Given the description of an element on the screen output the (x, y) to click on. 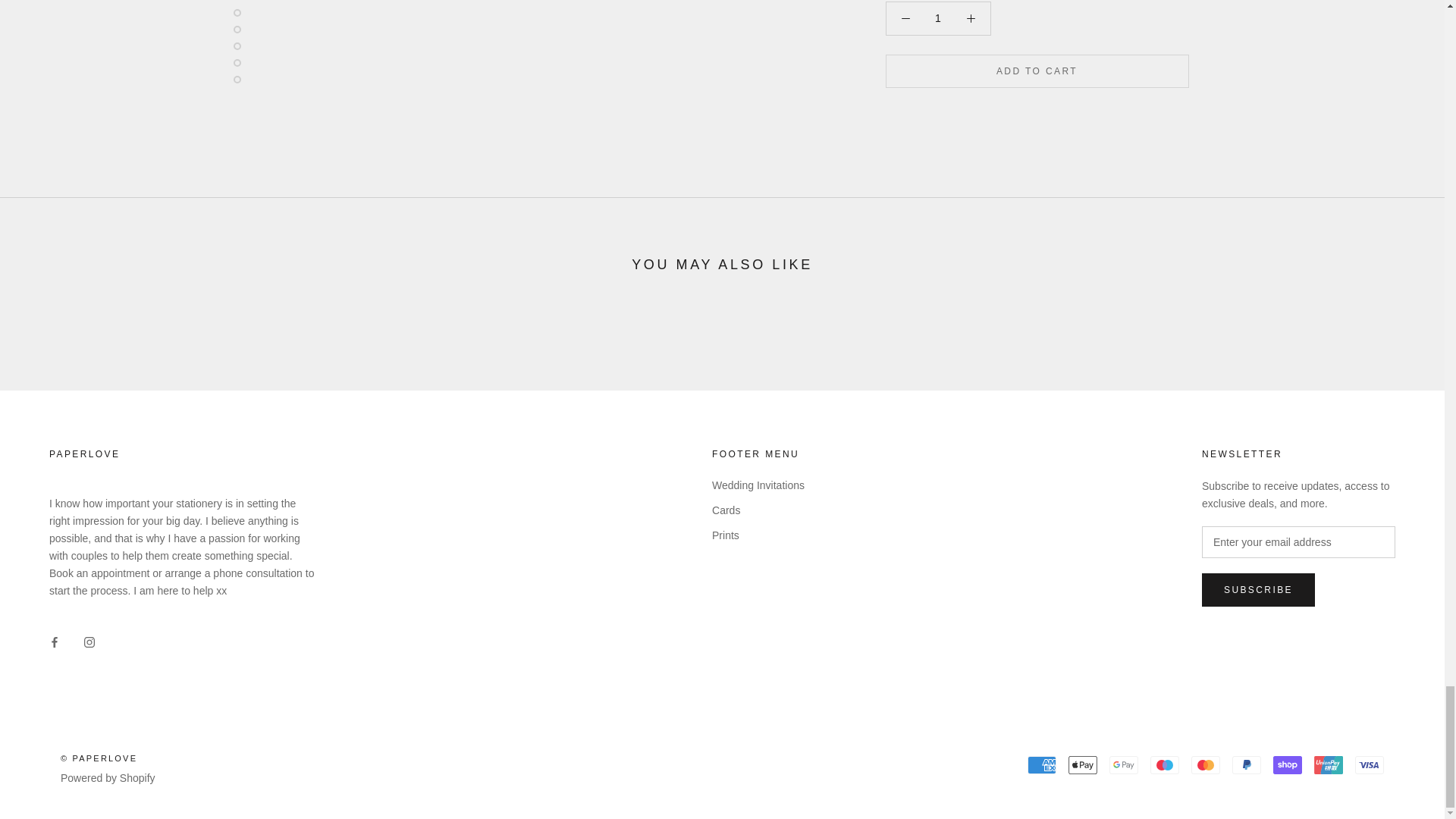
Shop Pay (1286, 764)
Maestro (1164, 764)
PayPal (1245, 764)
Mastercard (1205, 764)
Union Pay (1328, 764)
Google Pay (1123, 764)
American Express (1042, 764)
Apple Pay (1082, 764)
Visa (1369, 764)
